Given the description of an element on the screen output the (x, y) to click on. 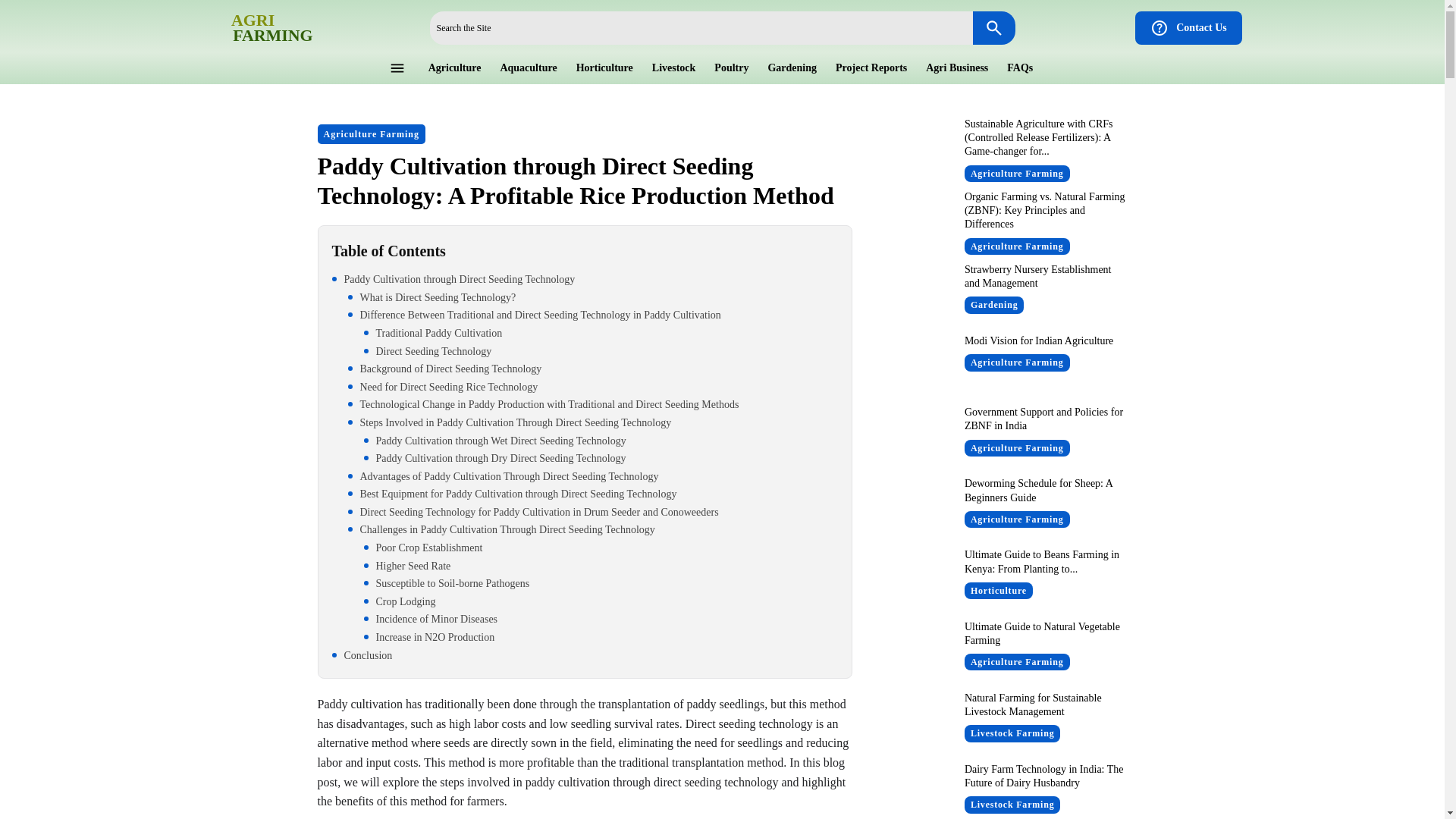
Contact Us (1188, 28)
Contact Us (1188, 28)
Strawberry Nursery Establishment and Management (255, 27)
